Given the description of an element on the screen output the (x, y) to click on. 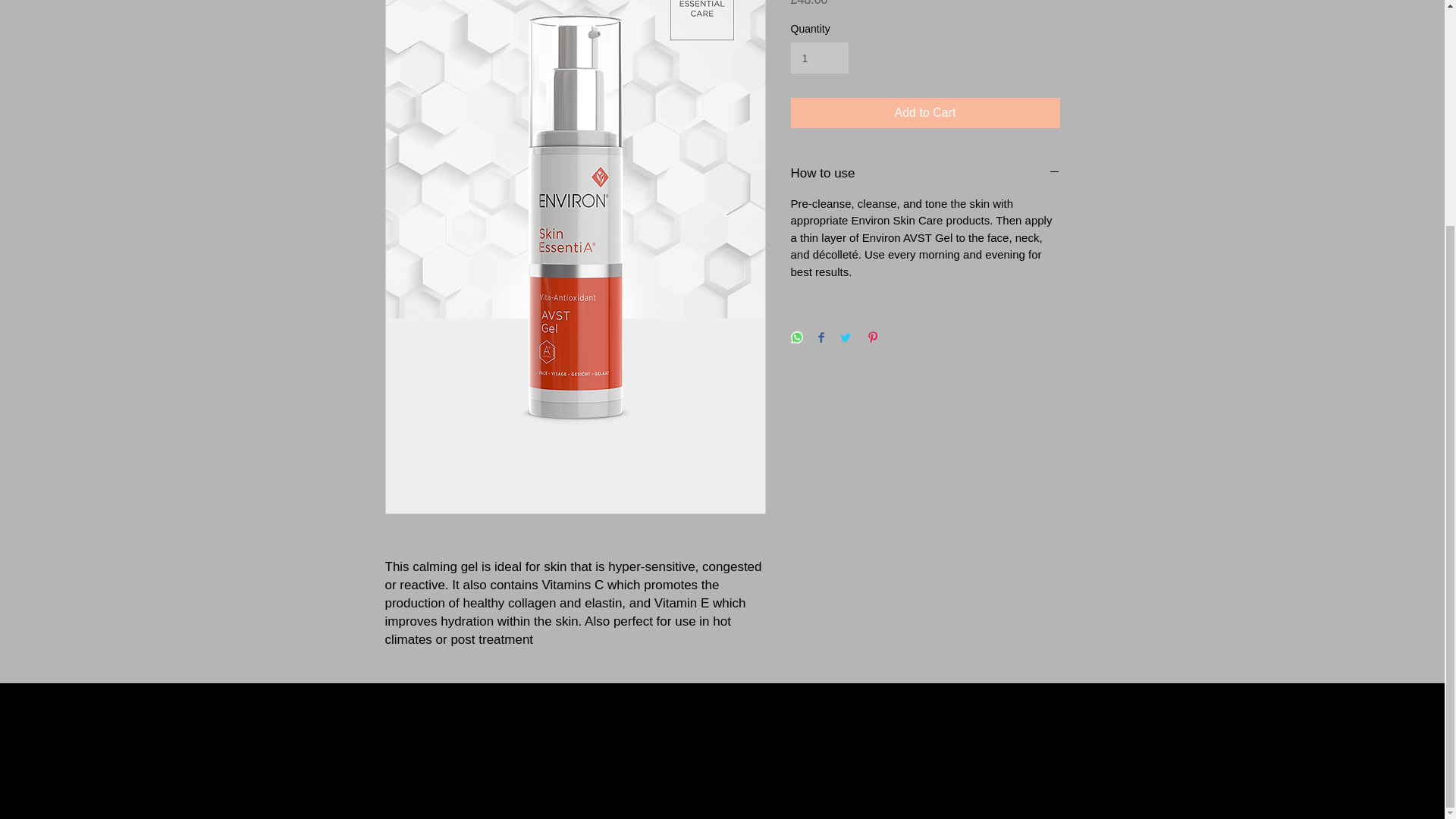
Add to Cart (924, 112)
1 (818, 57)
How to use (924, 173)
